Given the description of an element on the screen output the (x, y) to click on. 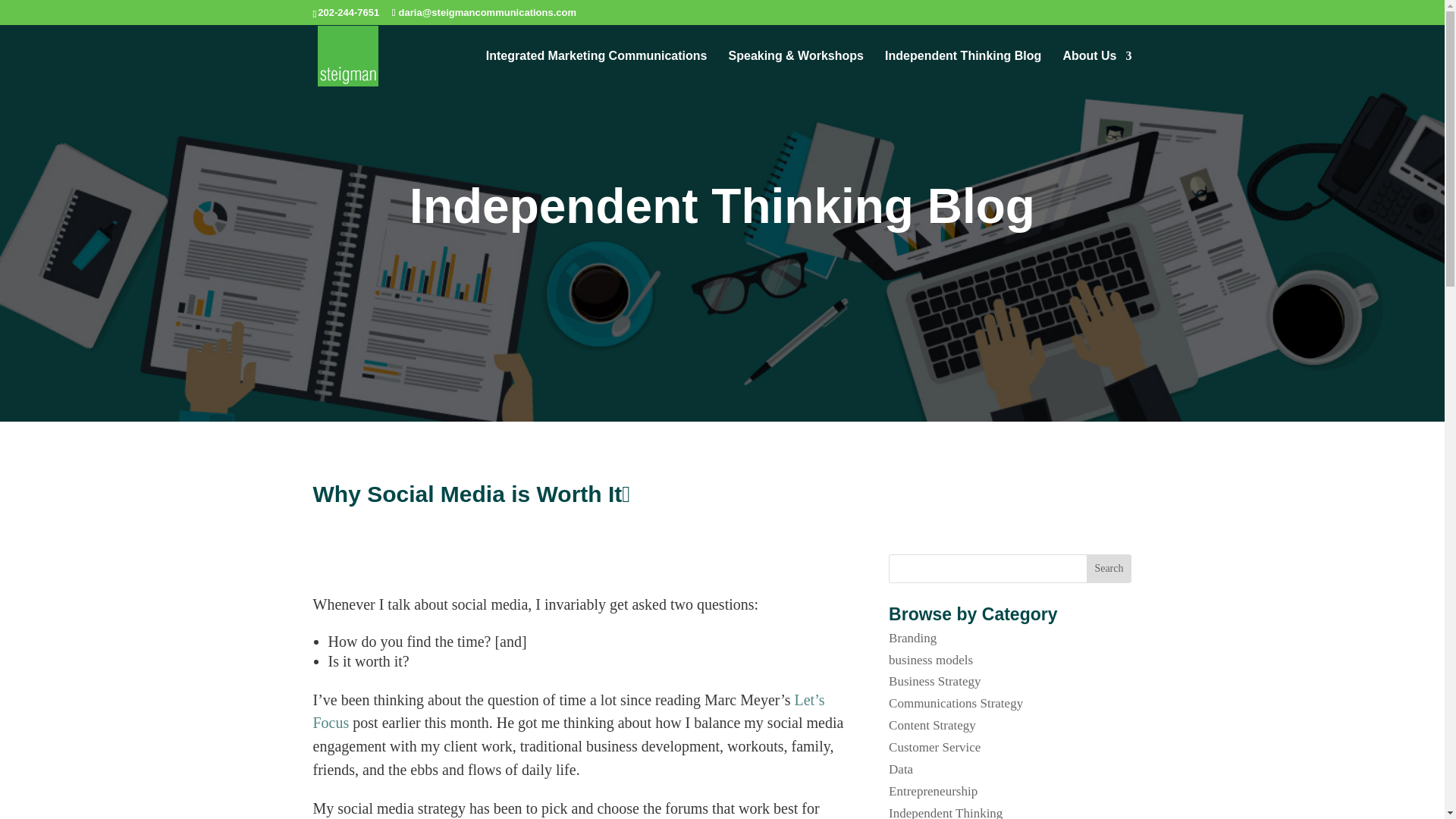
Search (1108, 568)
Search (1108, 568)
Independent Thinking (945, 812)
Entrepreneurship (932, 790)
Search (1108, 568)
Communications Strategy (955, 703)
About Us (1096, 67)
Independent Thinking Blog (963, 67)
Content Strategy (931, 725)
Business Strategy (933, 681)
